Given the description of an element on the screen output the (x, y) to click on. 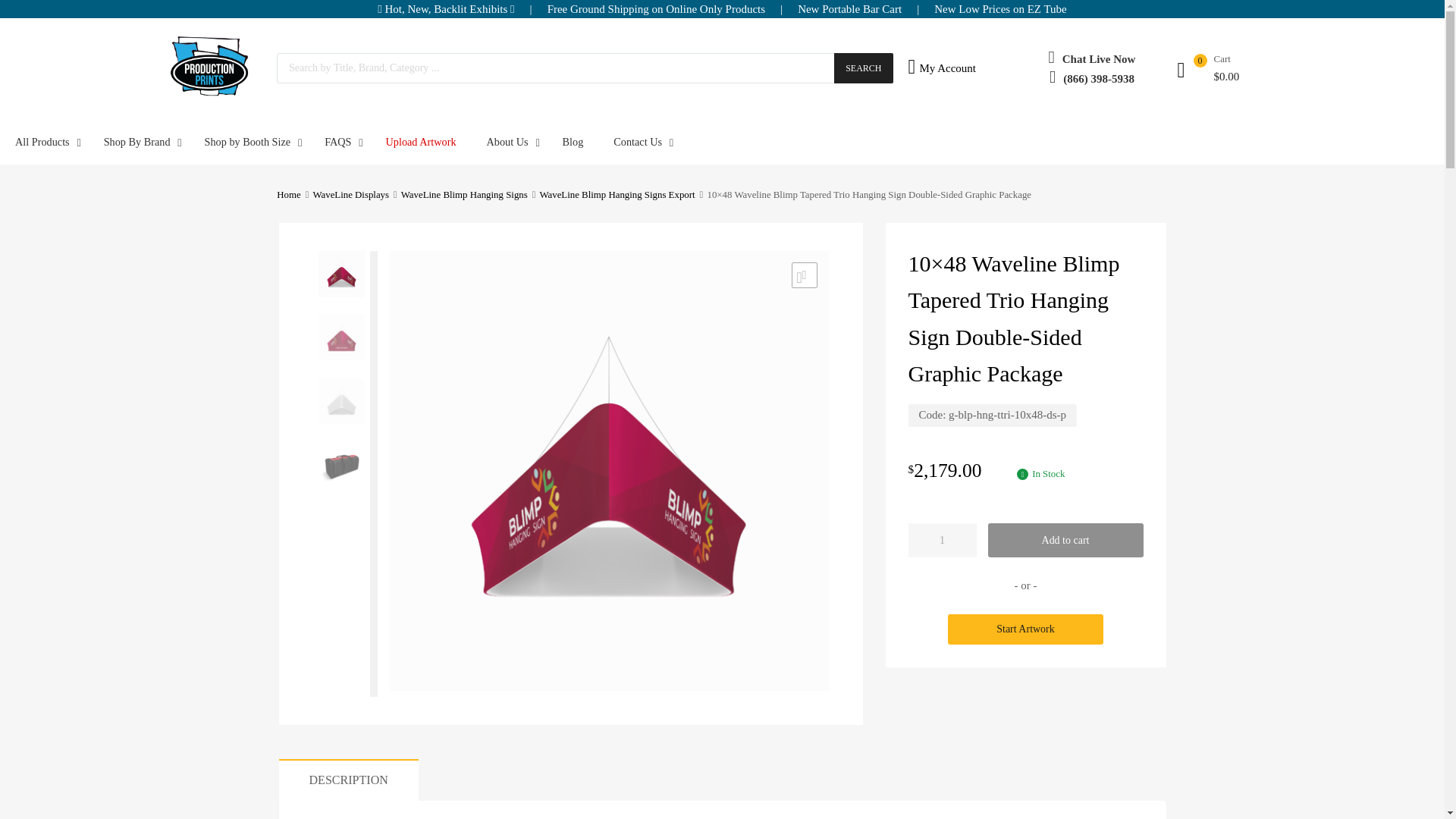
New Portable Bar Cart (849, 9)
Production Prints (210, 92)
Chat Live Now (1098, 59)
SEARCH (863, 68)
New Low Prices on EZ Tube (1000, 9)
All Products (44, 141)
1 (942, 540)
My Account (934, 67)
Free Ground Shipping on Online Only Products (656, 9)
